Given the description of an element on the screen output the (x, y) to click on. 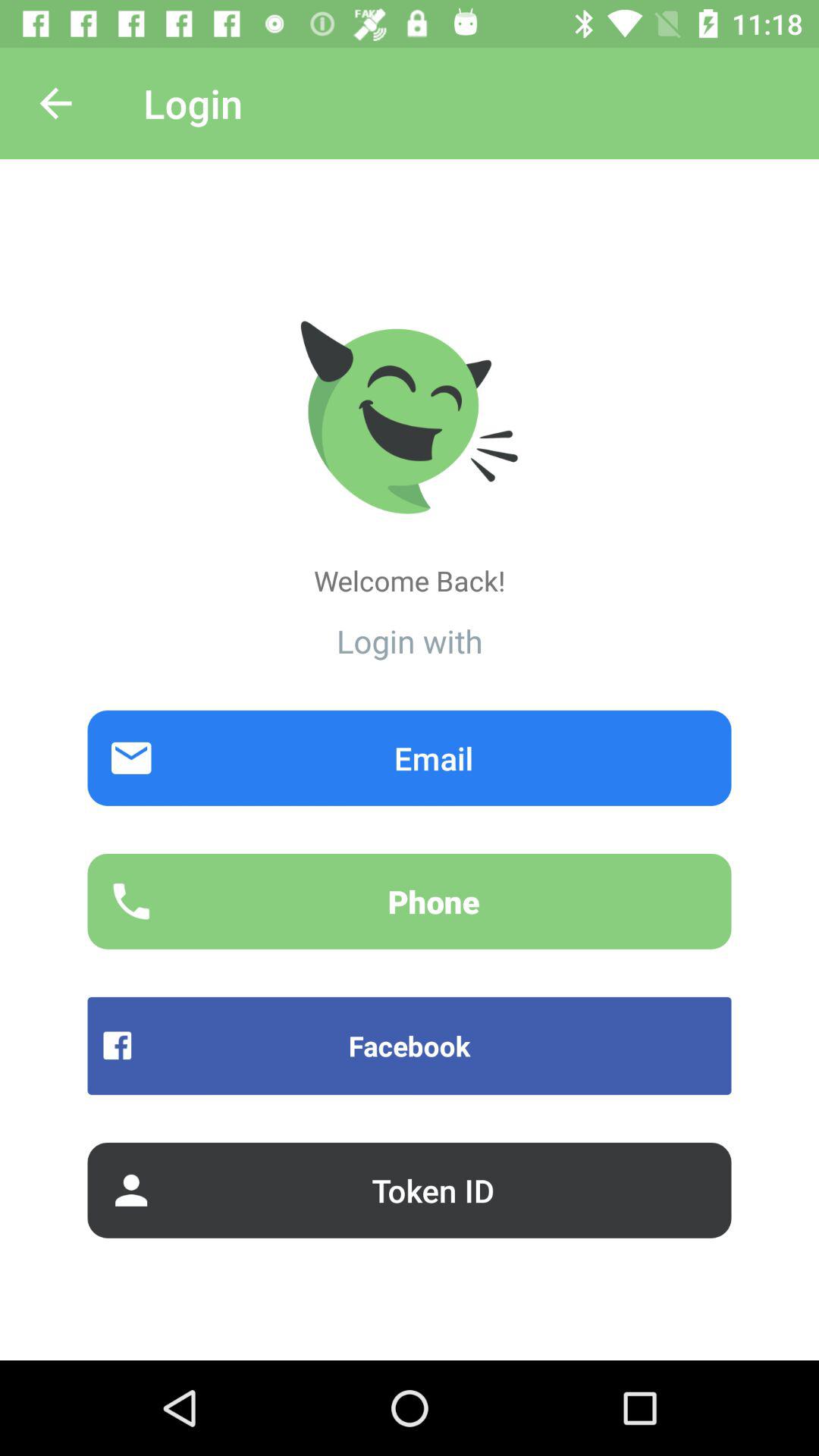
jump to the facebook icon (409, 1045)
